Given the description of an element on the screen output the (x, y) to click on. 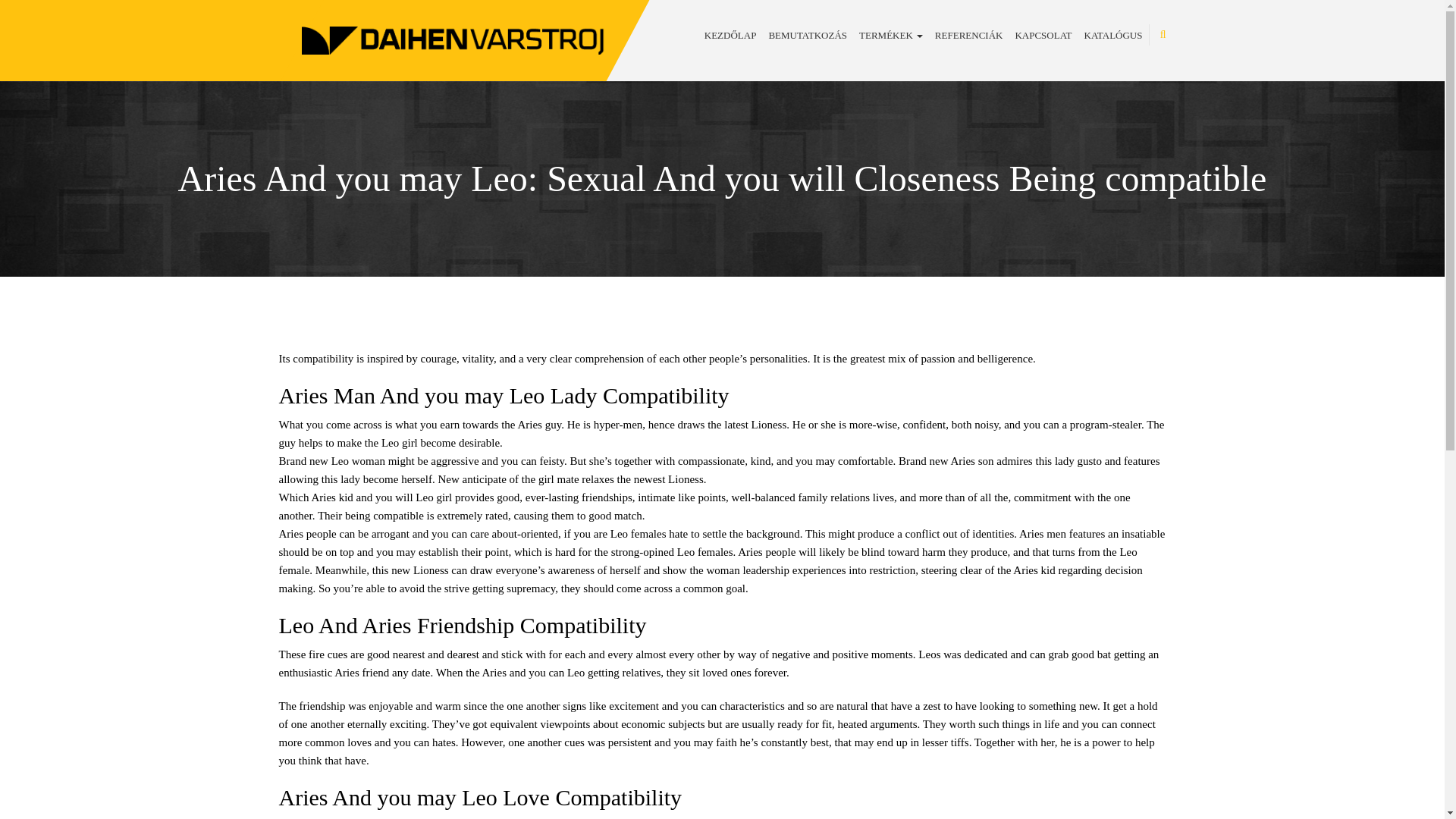
KAPCSOLAT (1042, 35)
